Given the description of an element on the screen output the (x, y) to click on. 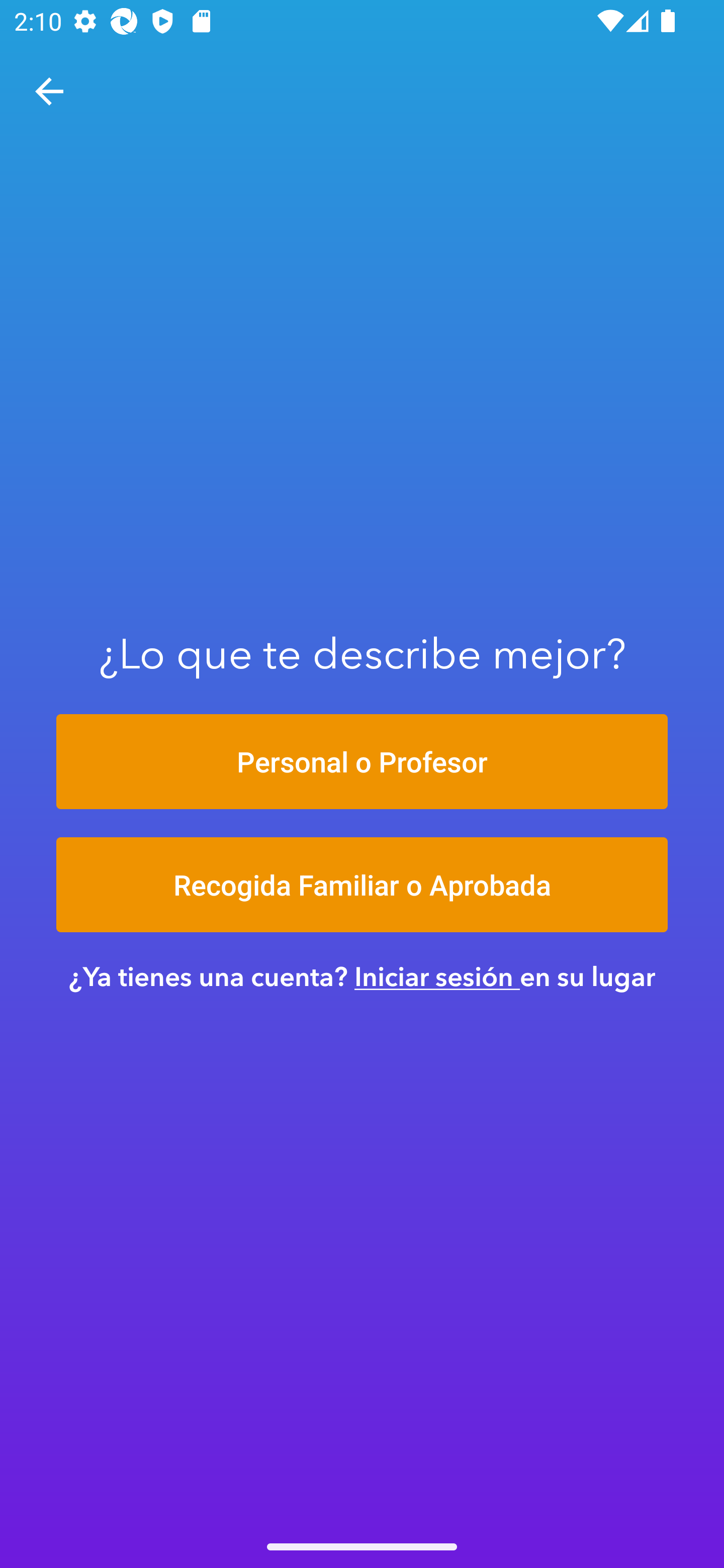
Navegar hacia arriba (49, 91)
Personal o Profesor (361, 761)
Recogida Familiar o Aprobada (361, 884)
¿Ya tienes una cuenta? Iniciar sesión en su lugar (361, 975)
